Given the description of an element on the screen output the (x, y) to click on. 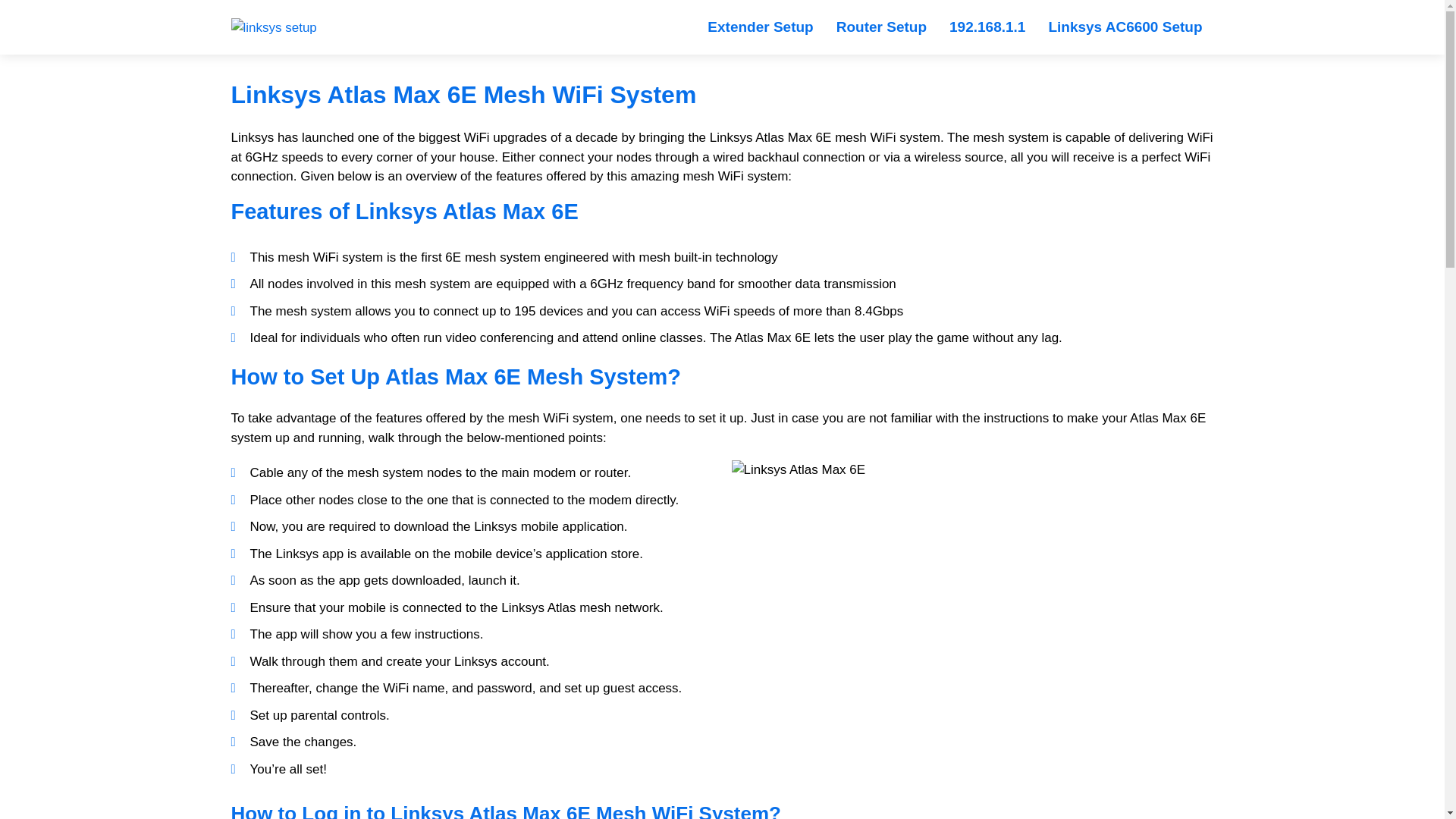
Extender Setup (759, 27)
Extender Setup (759, 27)
192.168.1.1 (986, 27)
Linksys AC6600 Setup (1124, 27)
Router Setup (881, 27)
Router Setup (881, 27)
Linksys AC6600 Setup (1124, 27)
192.168.1.1 (986, 27)
